Given the description of an element on the screen output the (x, y) to click on. 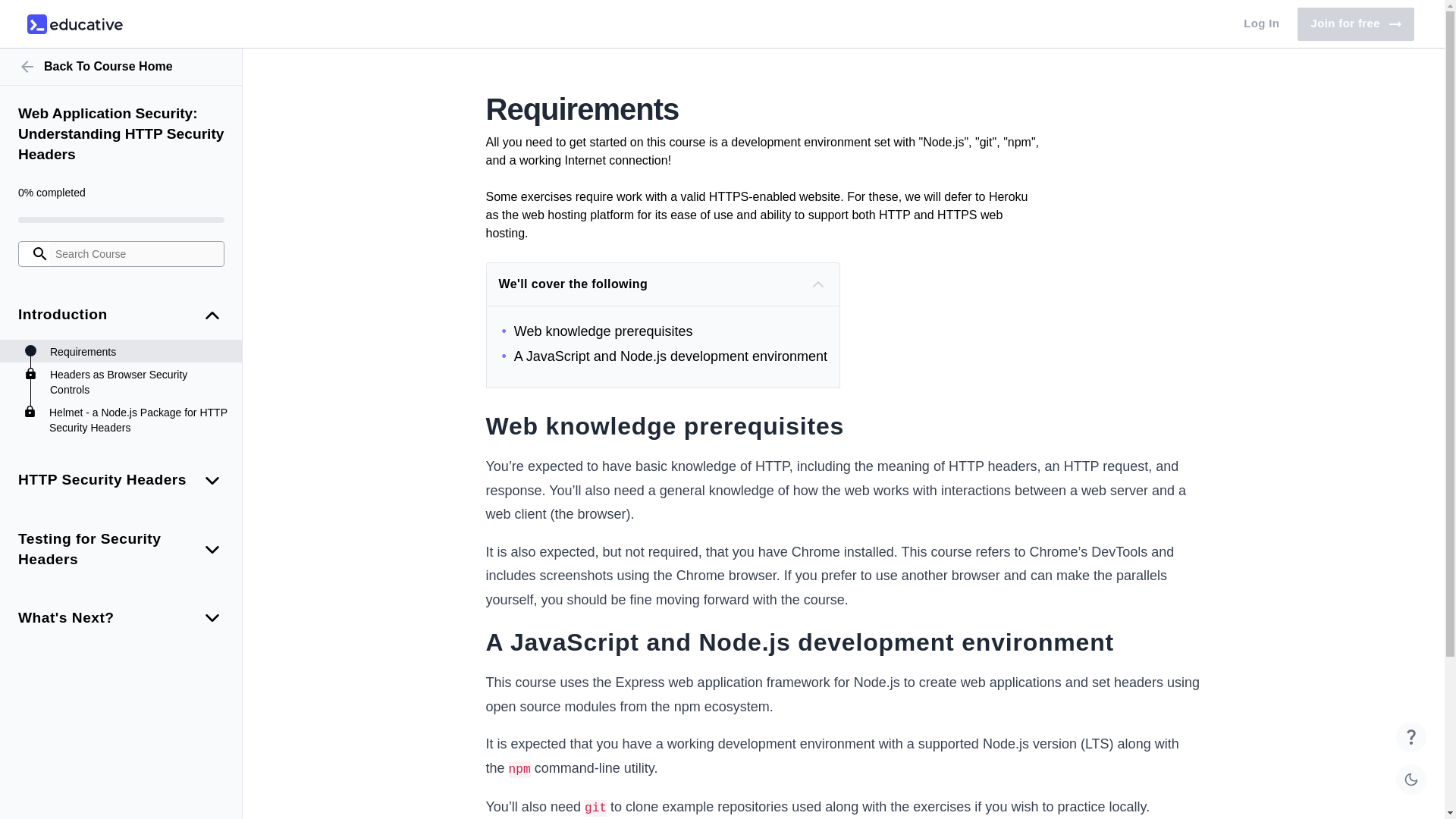
Headers as Browser Security Controls (1355, 23)
Back To Course Home (138, 381)
educative.io (121, 66)
Requirements (74, 23)
A JavaScript and Node.js development environment (138, 351)
Helmet - a Node.js Package for HTTP Security Headers (665, 355)
Web knowledge prerequisites (138, 419)
Log In (665, 330)
